Given the description of an element on the screen output the (x, y) to click on. 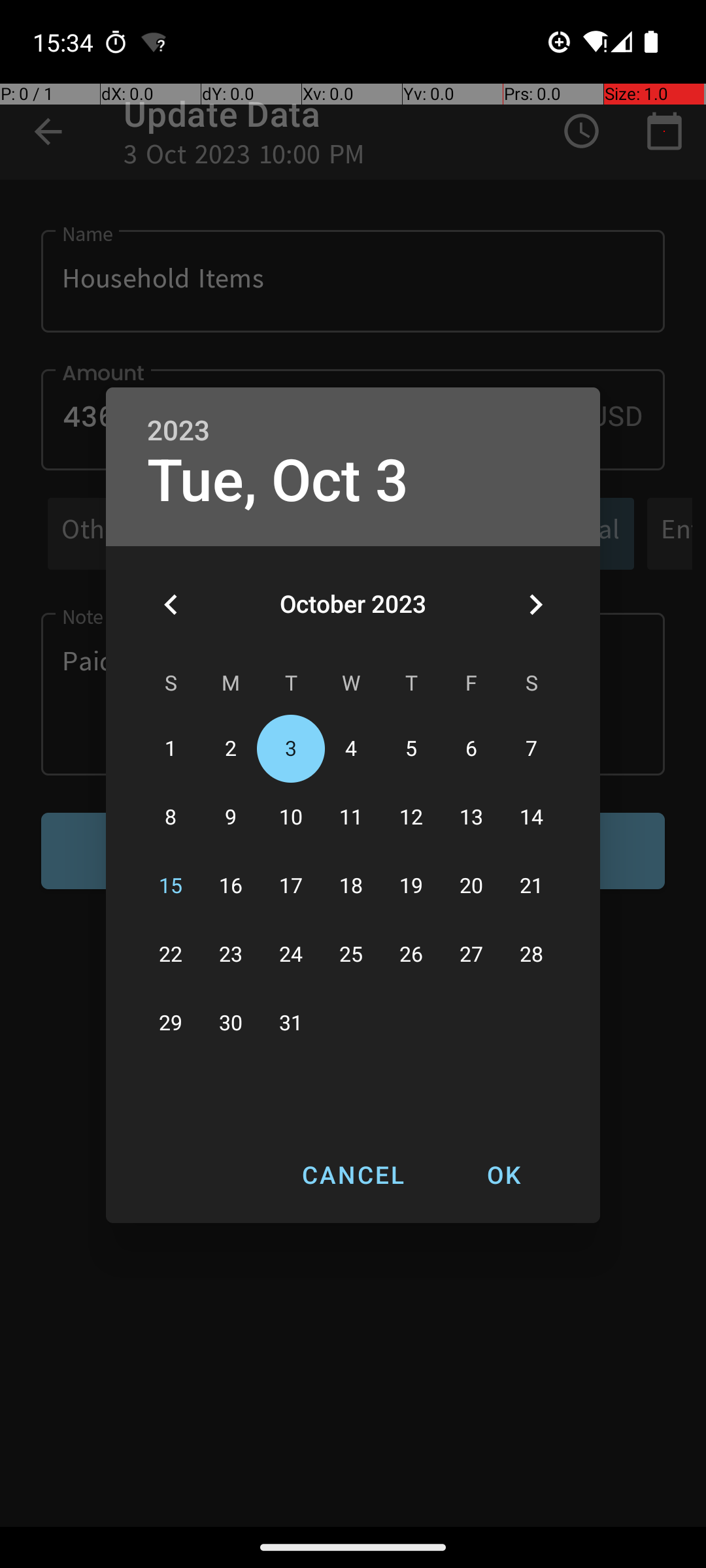
Tue, Oct 3 Element type: android.widget.TextView (278, 480)
